Given the description of an element on the screen output the (x, y) to click on. 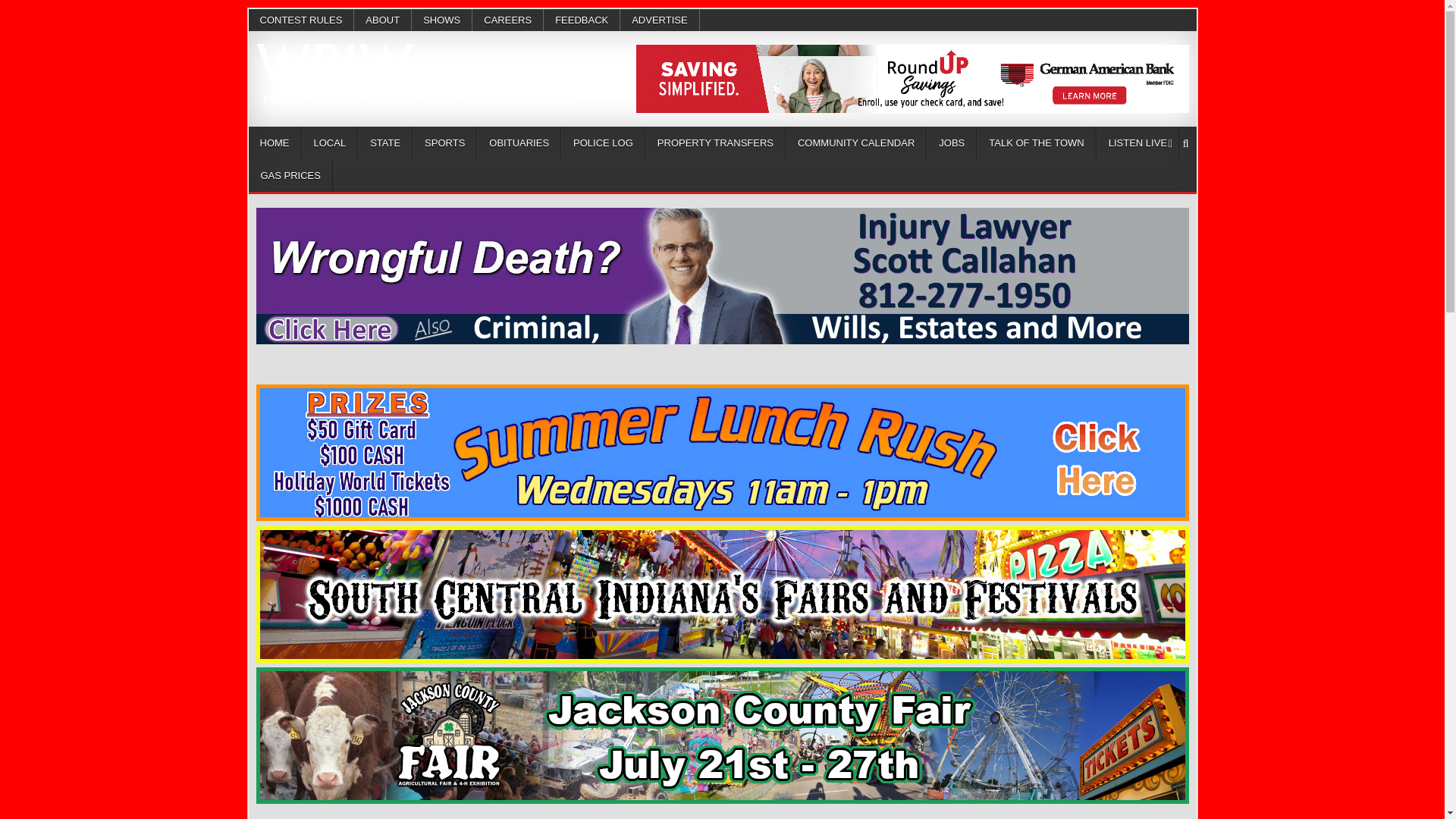
SHOWS (441, 20)
FEEDBACK (581, 20)
ADVERTISE (659, 20)
STATE (385, 142)
SPORTS (444, 142)
CAREERS (507, 20)
CONTEST RULES (301, 20)
LOCAL (329, 142)
ABOUT (382, 20)
HOME (274, 142)
